Given the description of an element on the screen output the (x, y) to click on. 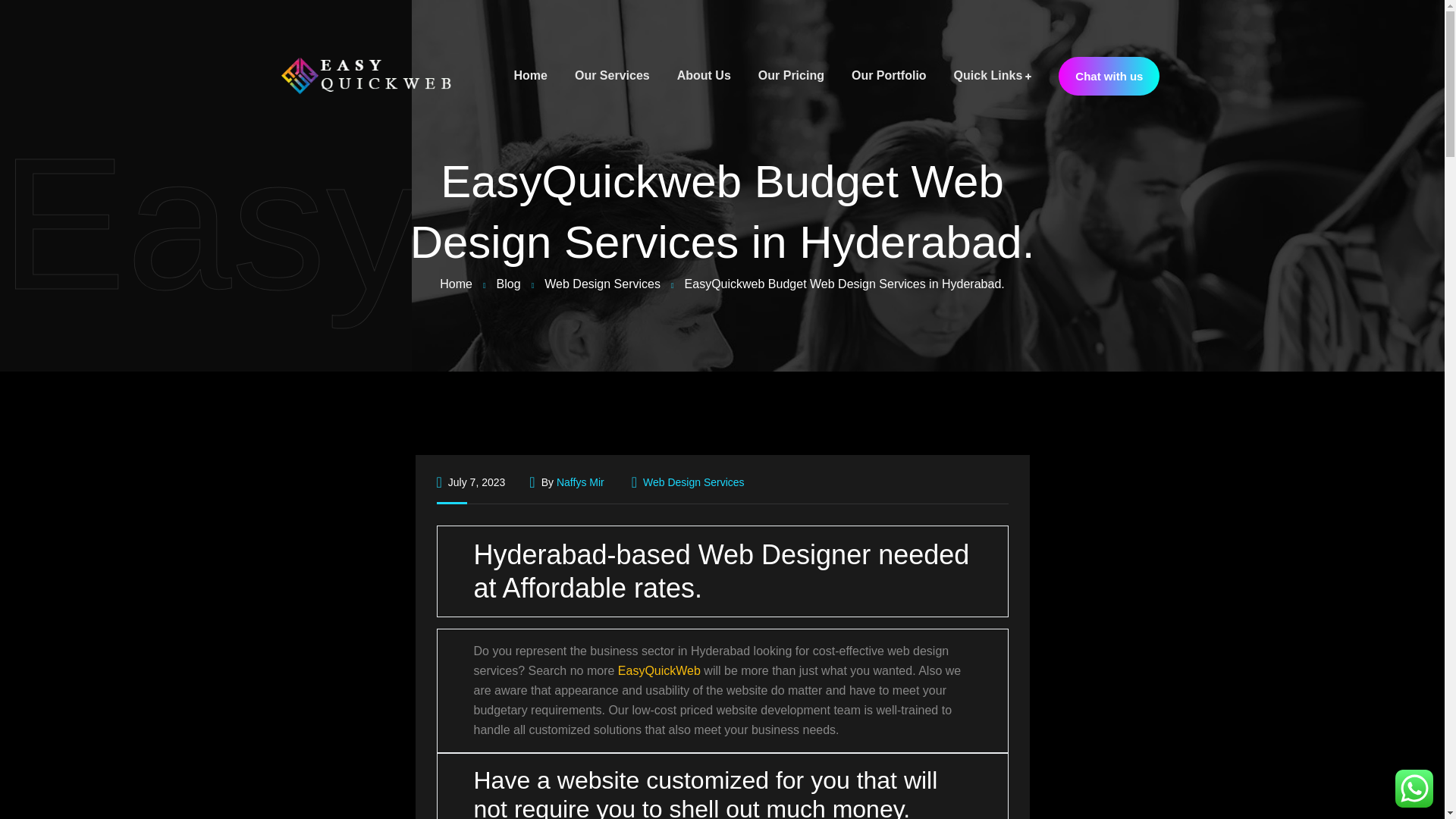
Web Design Services (602, 283)
Home (530, 75)
About Us (703, 75)
Our Pricing (791, 75)
Naffys Mir (580, 482)
Our Services (612, 75)
Blog (508, 283)
EasyQuickWeb (658, 670)
Chat with us (1108, 75)
Quick Links (992, 75)
Web Design Services (693, 482)
Our Portfolio (888, 75)
Posts by Naffys Mir (580, 482)
Home (455, 283)
